Given the description of an element on the screen output the (x, y) to click on. 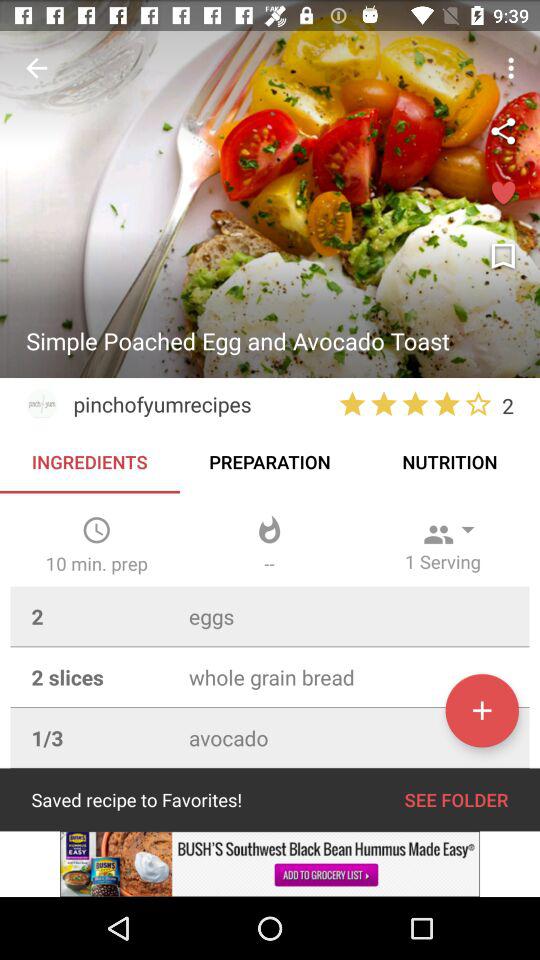
add a recipe (482, 710)
